Given the description of an element on the screen output the (x, y) to click on. 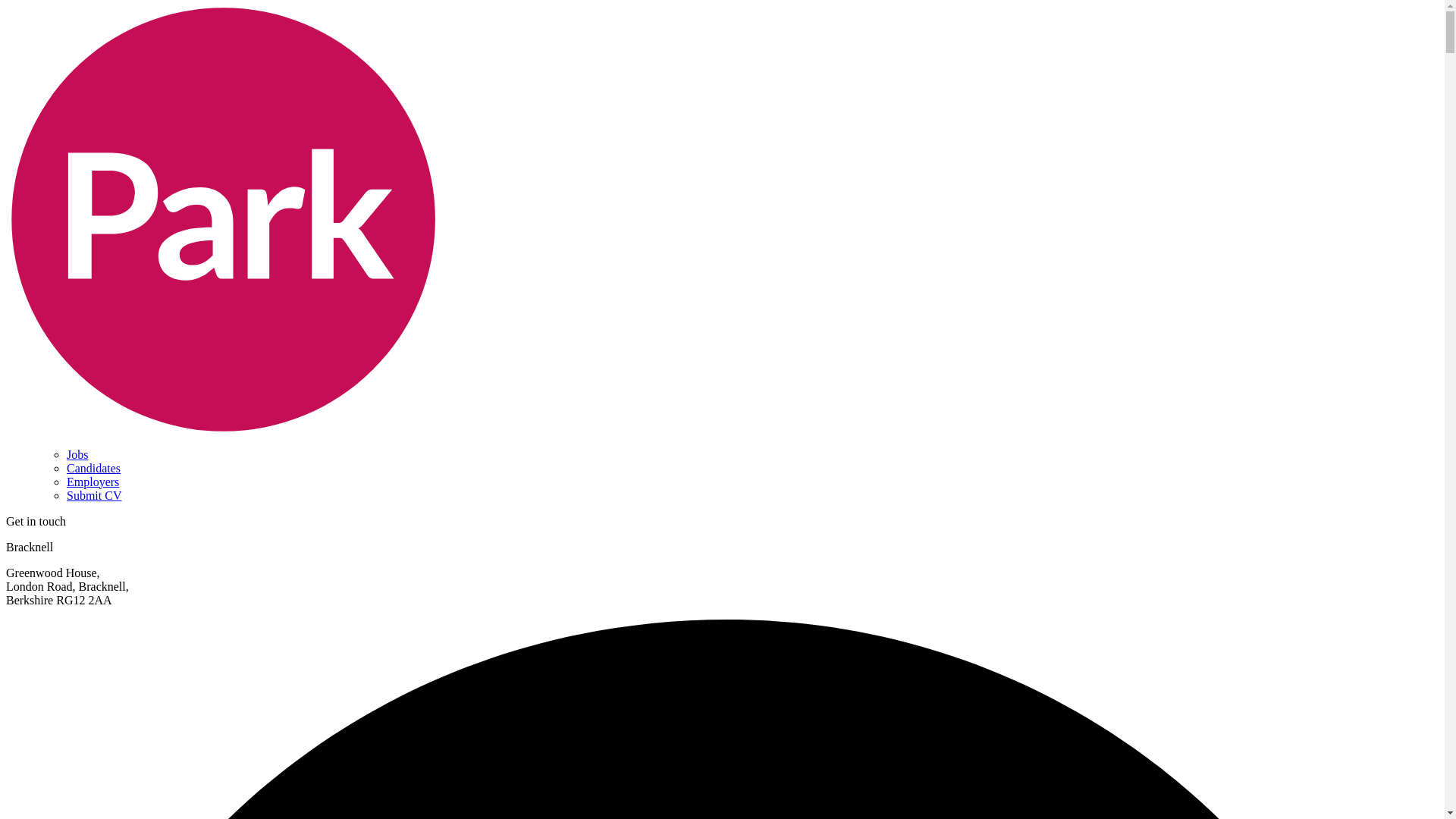
Employers (92, 481)
Submit CV (93, 495)
Jobs (76, 454)
Candidates (93, 468)
